Given the description of an element on the screen output the (x, y) to click on. 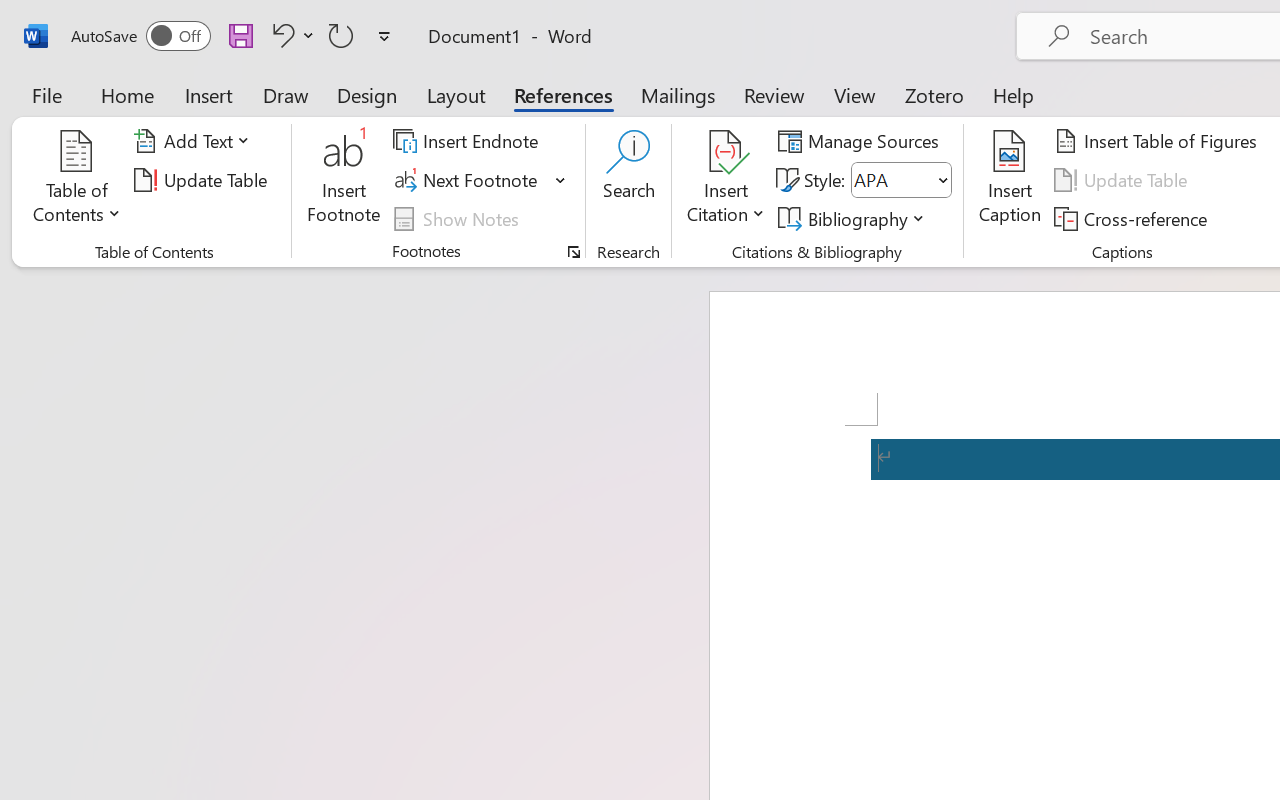
Cross-reference... (1133, 218)
Show Notes (459, 218)
Next Footnote (468, 179)
Add Text (195, 141)
Insert Caption... (1009, 180)
Style (892, 179)
Next Footnote (479, 179)
Manage Sources... (861, 141)
